Given the description of an element on the screen output the (x, y) to click on. 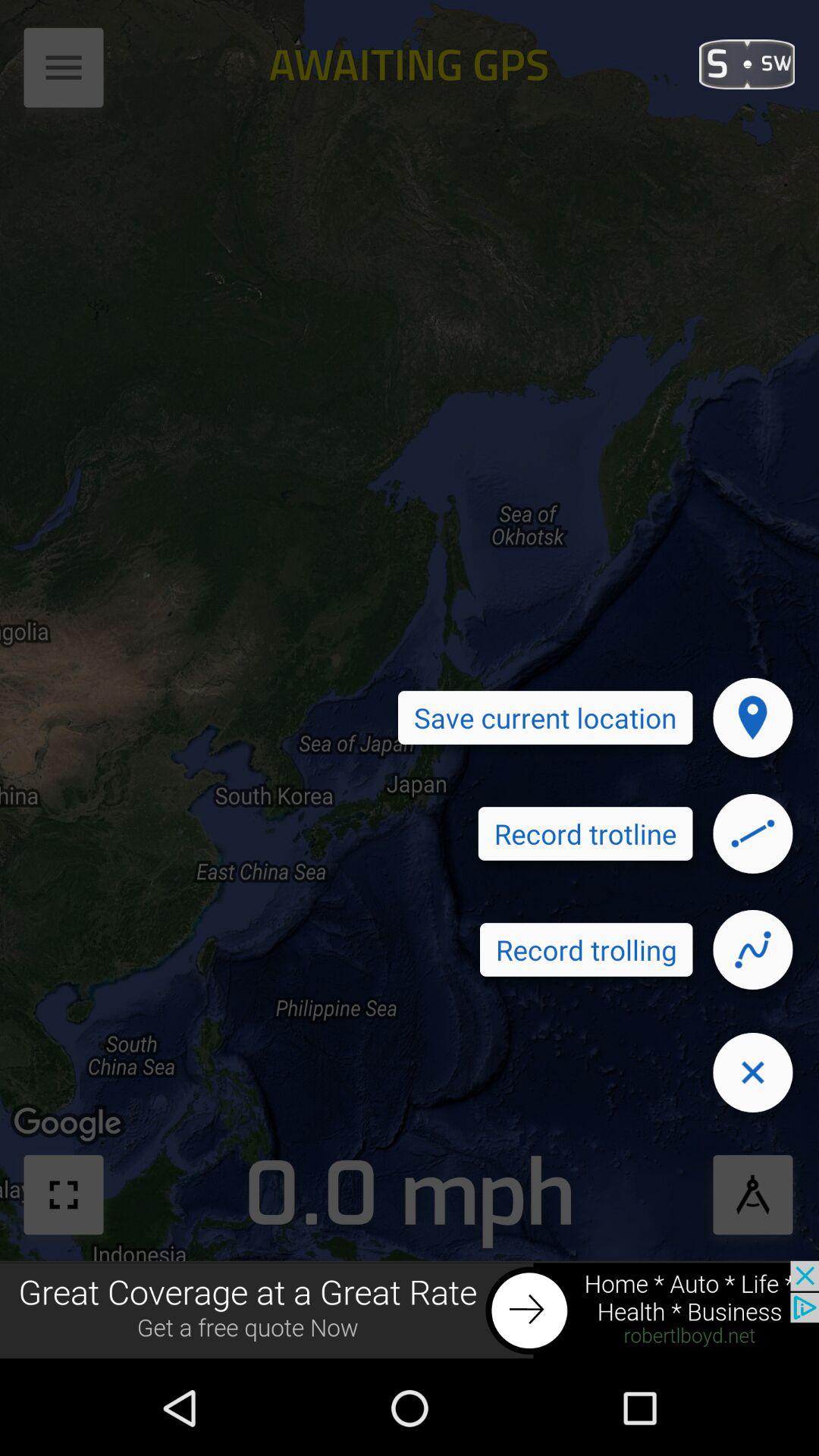
save location (752, 717)
